Given the description of an element on the screen output the (x, y) to click on. 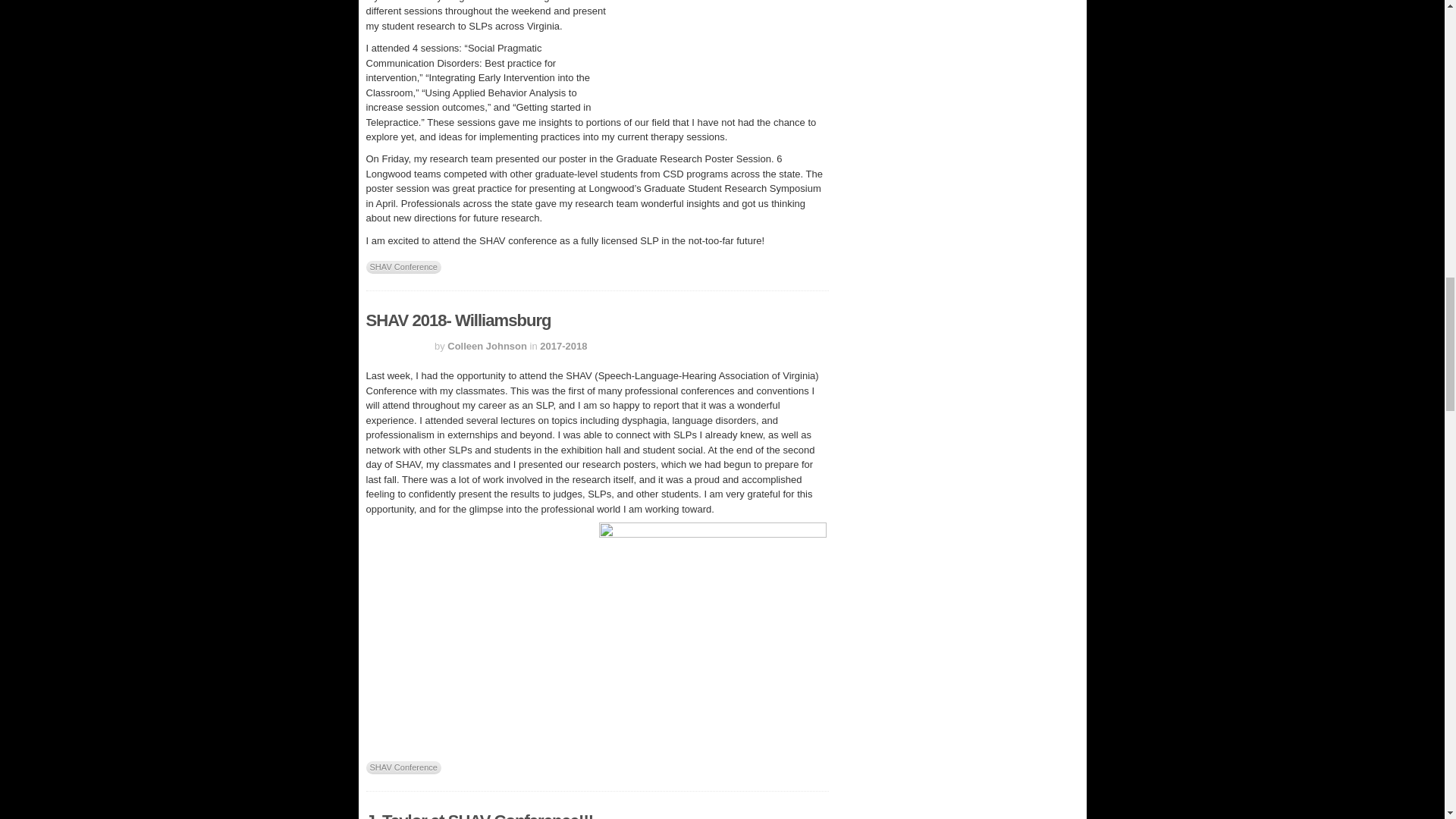
2017-2018 (563, 346)
Colleen Johnson (486, 346)
SHAV 2018- Williamsburg (457, 320)
Permalink to SHAV 2018- Williamsburg (457, 320)
SHAV Conference (403, 267)
J. Taylor at SHAV Conference!!! (478, 815)
SHAV Conference (403, 767)
Posts by Colleen Johnson (486, 346)
Permalink to J. Taylor at SHAV Conference!!! (478, 815)
